Given the description of an element on the screen output the (x, y) to click on. 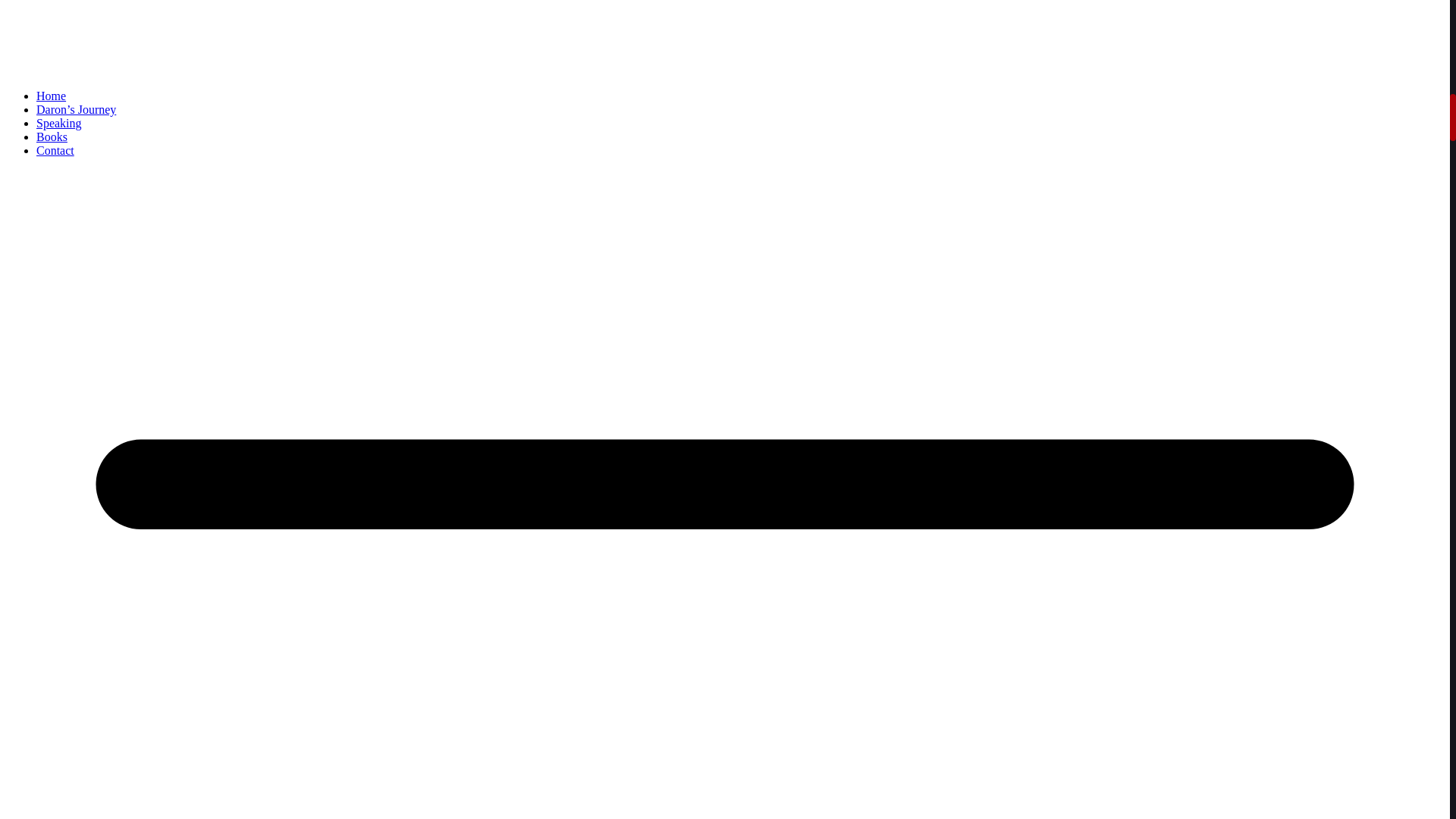
Speaking (58, 123)
Home (50, 95)
Contact (55, 150)
Books (51, 136)
